Given the description of an element on the screen output the (x, y) to click on. 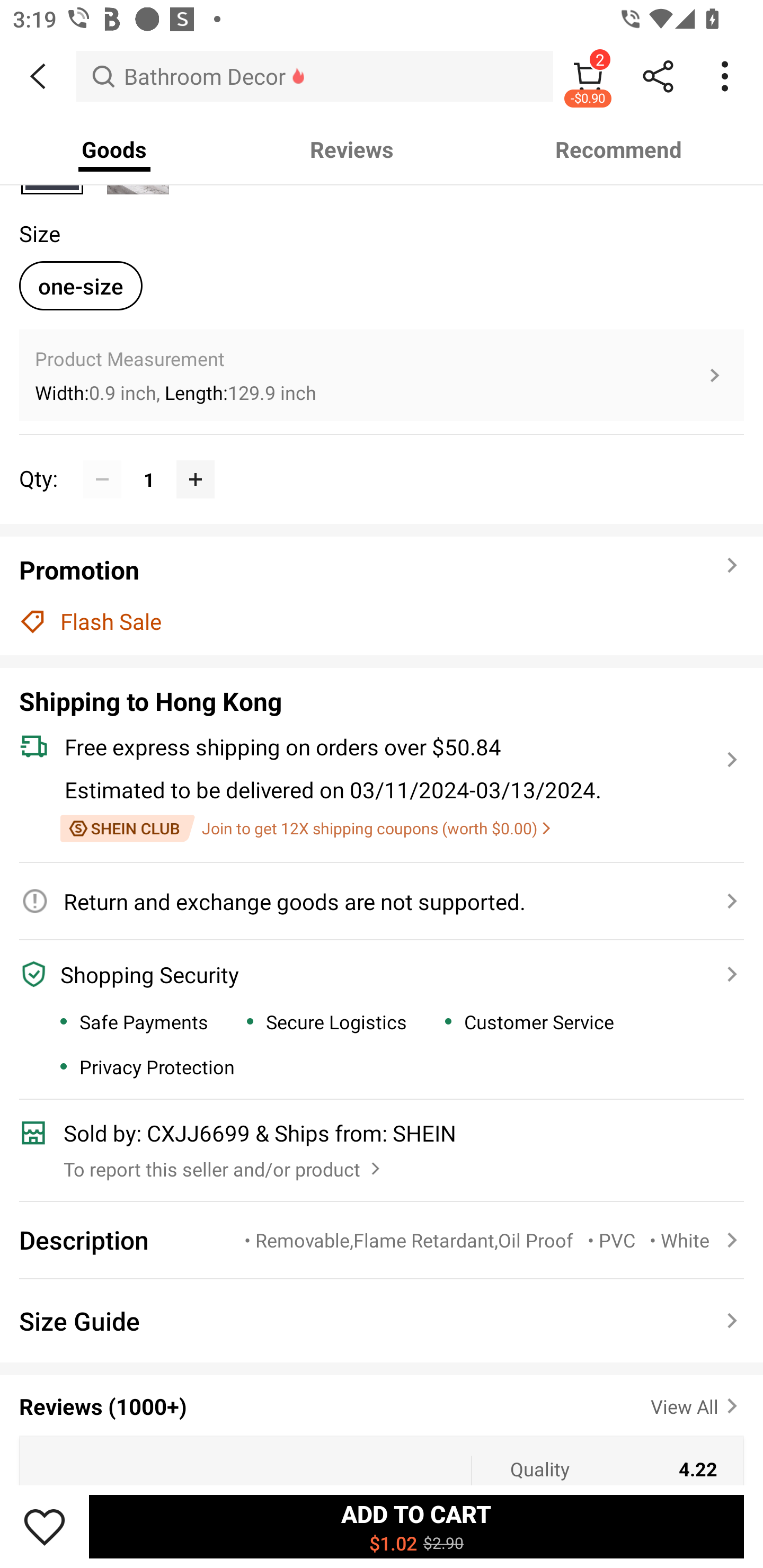
BACK (38, 75)
2 -$0.90 (588, 75)
Bathroom Decor (314, 75)
Goods (114, 149)
Reviews (351, 149)
Recommend (618, 149)
Size (39, 232)
one-size one-sizeselected option (80, 285)
Qty: 1 (381, 459)
Promotion Flash Sale (381, 595)
Join to get 12X shipping coupons (worth $0.00) (305, 828)
Return and exchange goods are not supported. (370, 901)
To report this seller and/or product   (224, 1164)
Size Guide (381, 1320)
ADD TO CART $1.02 $2.90 (416, 1526)
Save (44, 1526)
